Given the description of an element on the screen output the (x, y) to click on. 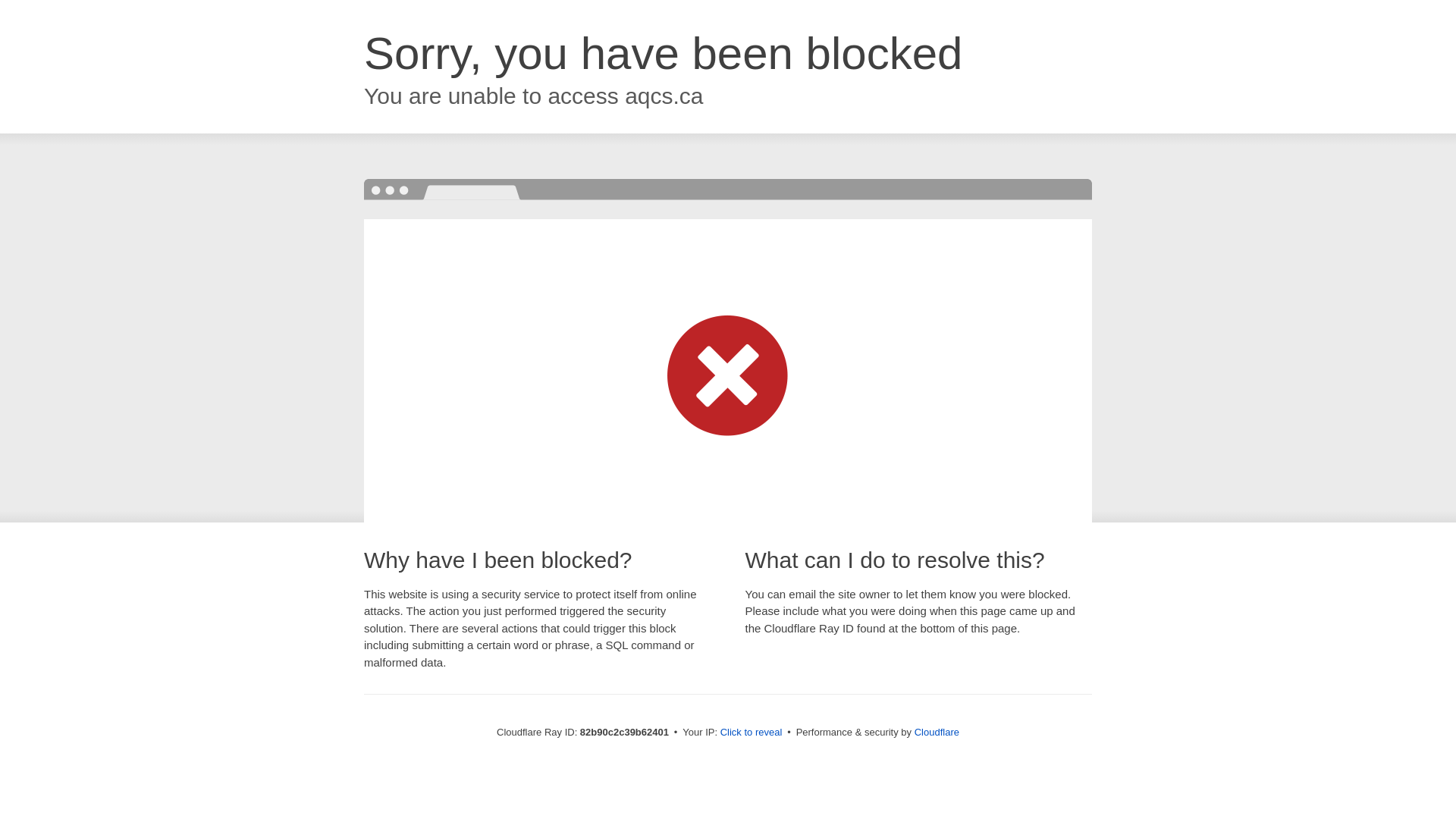
Click to reveal Element type: text (751, 732)
Cloudflare Element type: text (936, 731)
